Given the description of an element on the screen output the (x, y) to click on. 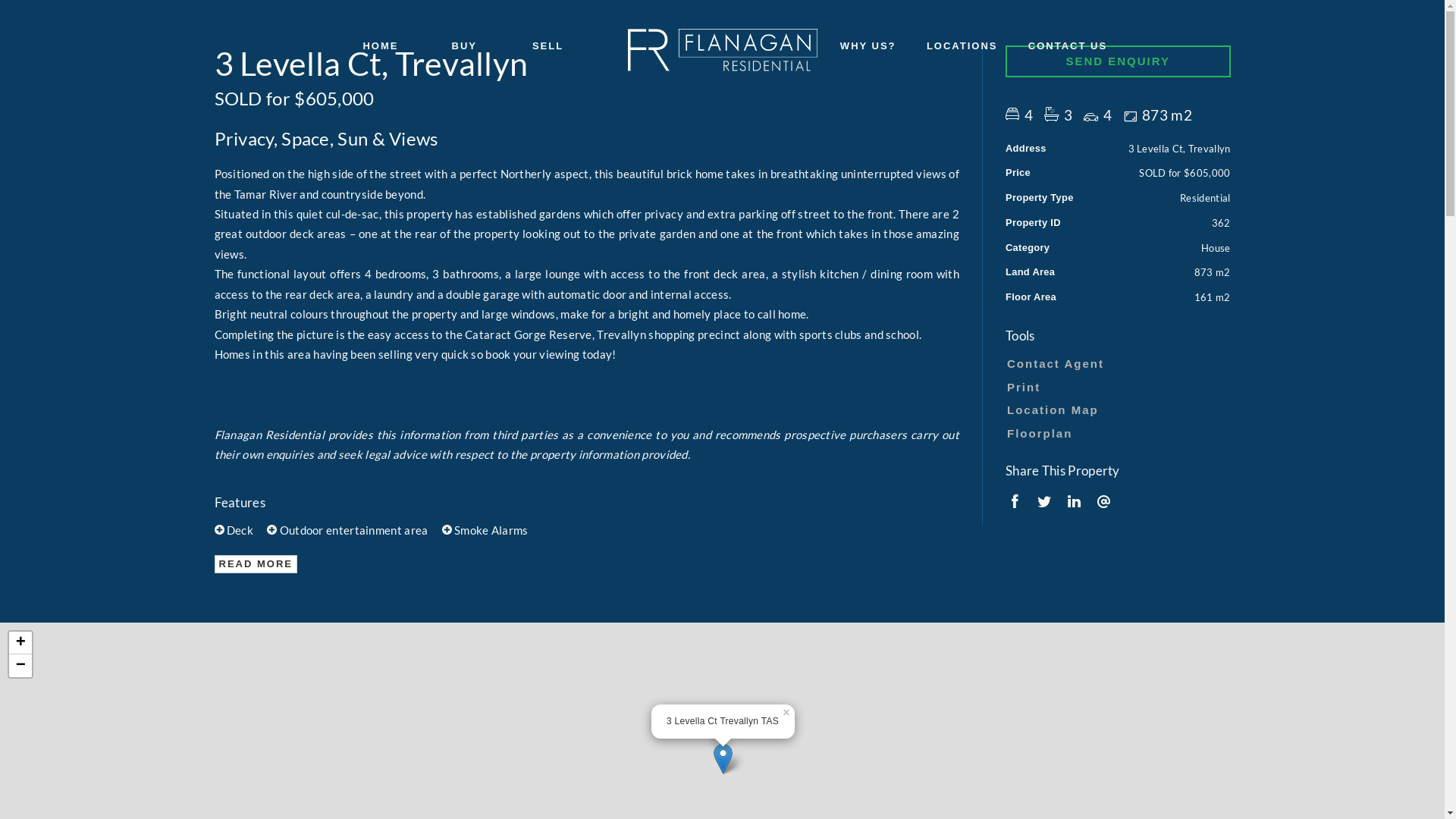
SEND ENQUIRY Element type: text (1117, 61)
BUY Element type: text (463, 46)
+ Element type: text (20, 642)
Floorplan Element type: text (1113, 433)
HOME Element type: text (380, 46)
Contact Agent Element type: text (1113, 363)
CONTACT US Element type: text (1067, 46)
Location Map Element type: text (1113, 409)
SELL Element type: text (547, 46)
WHY US? Element type: text (868, 46)
Flanagan Residential Element type: hover (722, 45)
LOCATIONS Element type: text (962, 46)
Print Element type: text (1113, 387)
